Given the description of an element on the screen output the (x, y) to click on. 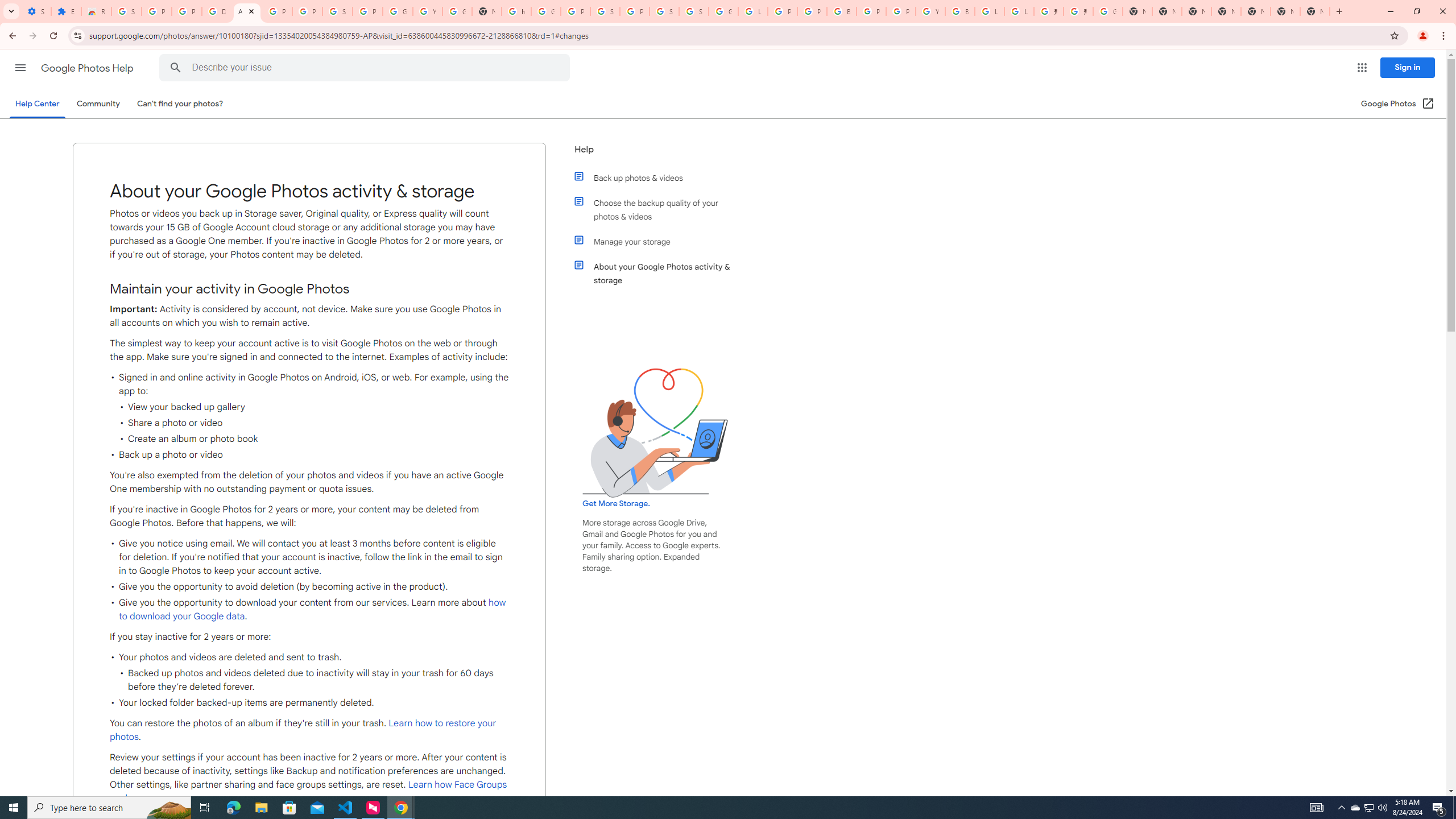
Back up photos & videos (661, 177)
Sign in - Google Accounts (126, 11)
Describe your issue (366, 67)
Google Photos Help (87, 68)
Search Help Center (176, 67)
New Tab (1314, 11)
About your Google Photos activity & storage (661, 273)
Browse Chrome as a guest - Computer - Google Chrome Help (959, 11)
